Given the description of an element on the screen output the (x, y) to click on. 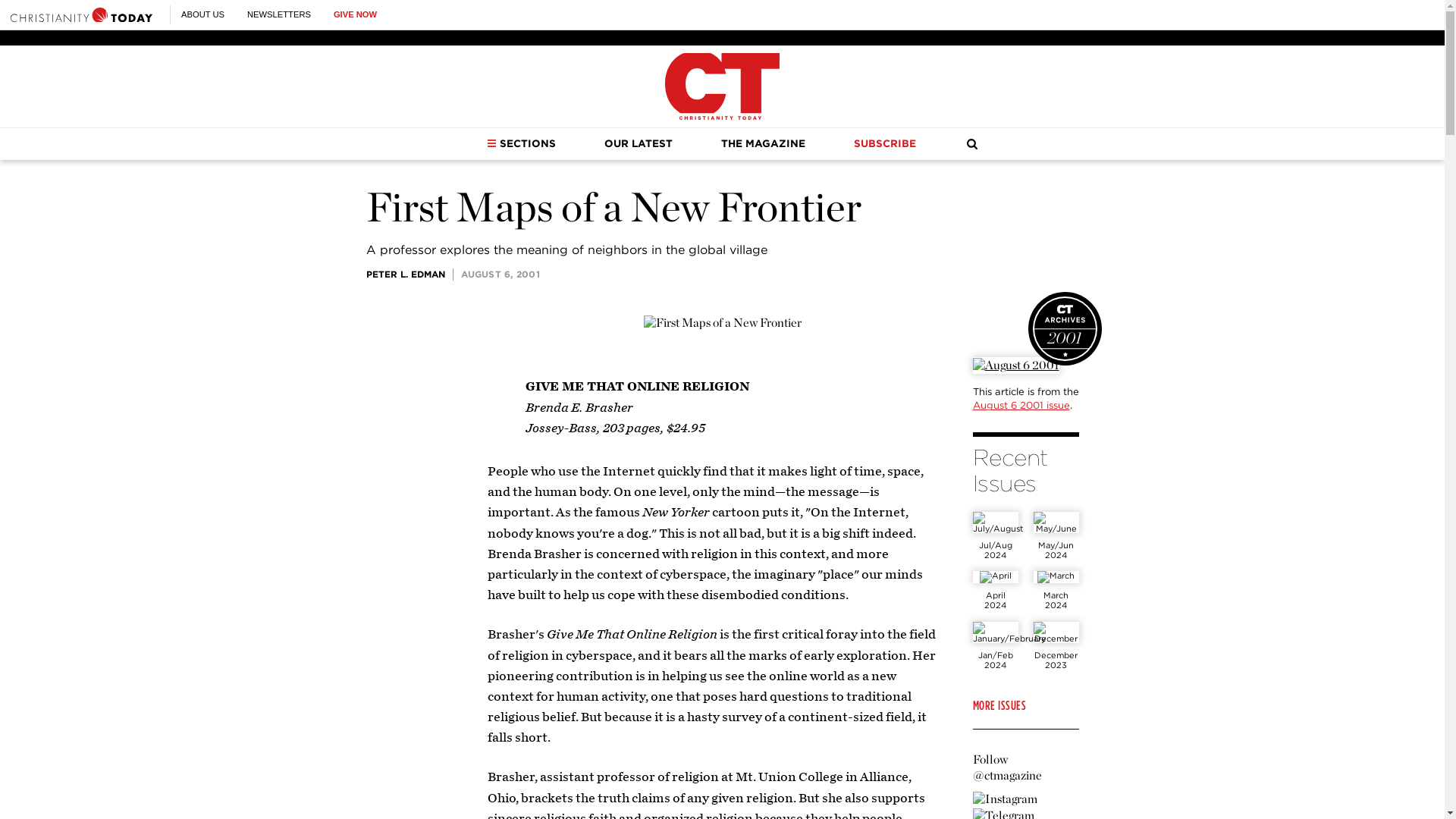
ABOUT US (202, 14)
SECTIONS (521, 143)
Christianity Today (81, 14)
Christianity Today (721, 86)
Sections Dropdown (491, 143)
First Maps of a New Frontier (721, 323)
NEWSLETTERS (278, 14)
GIVE NOW (355, 14)
